Given the description of an element on the screen output the (x, y) to click on. 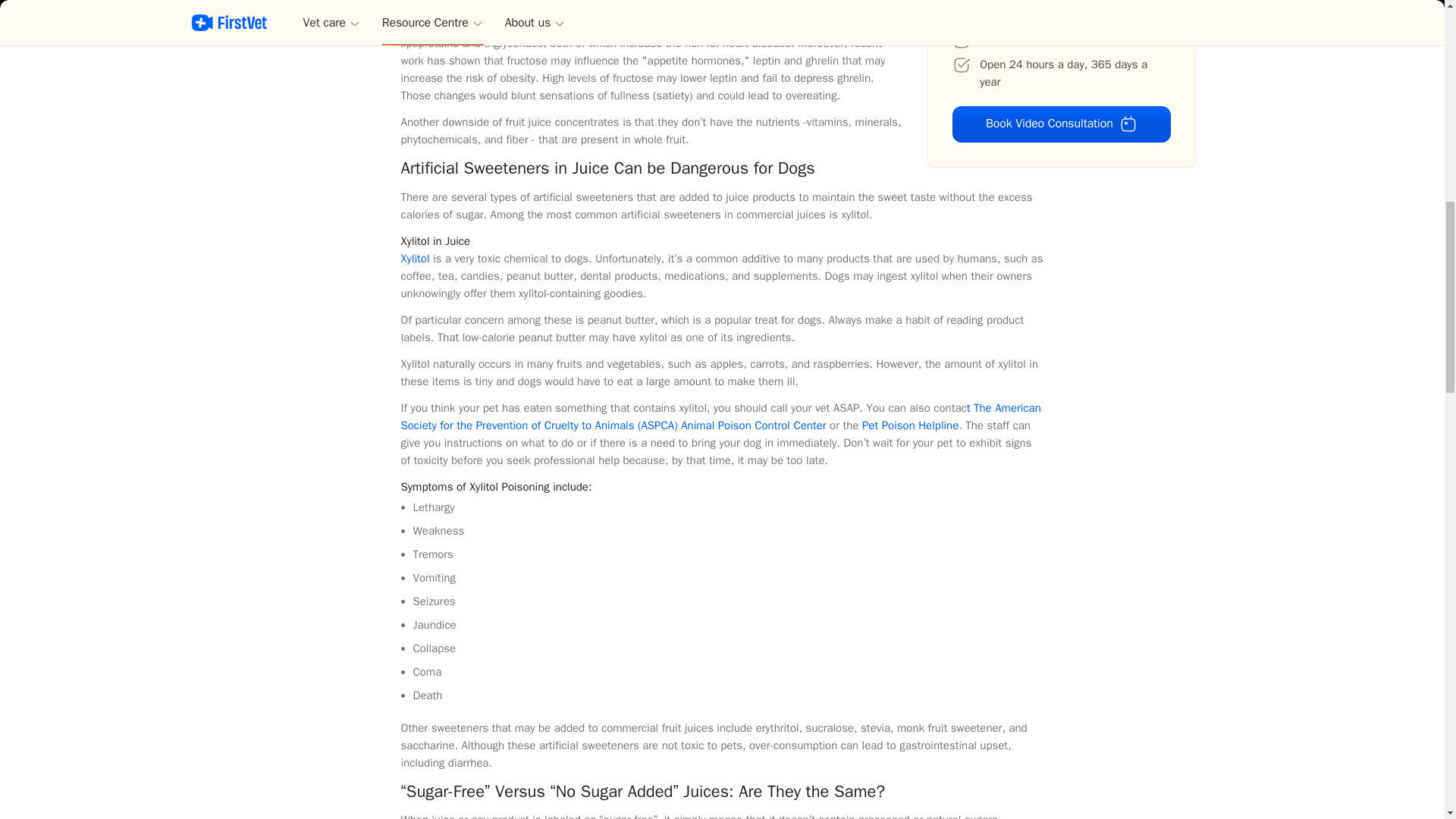
Book Video Consultation (1061, 124)
Xylitol (414, 258)
Pet Poison Helpline (909, 425)
